Given the description of an element on the screen output the (x, y) to click on. 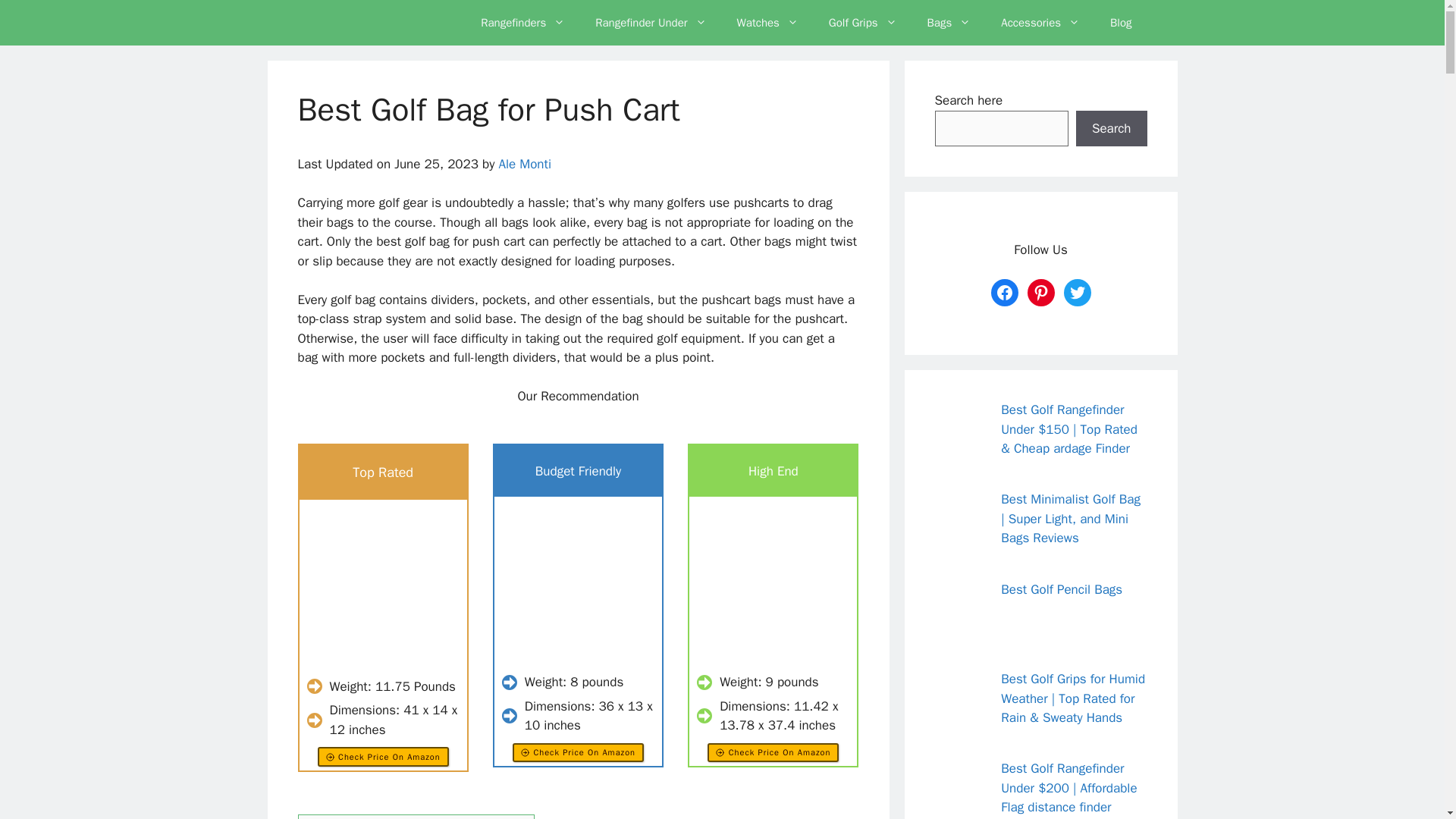
Golf Grips (862, 22)
Rangefinder Under (649, 22)
Accessories (1039, 22)
Blog (1120, 22)
Watches (767, 22)
Golf Vela (371, 22)
Bags (949, 22)
Rangefinders (522, 22)
